Given the description of an element on the screen output the (x, y) to click on. 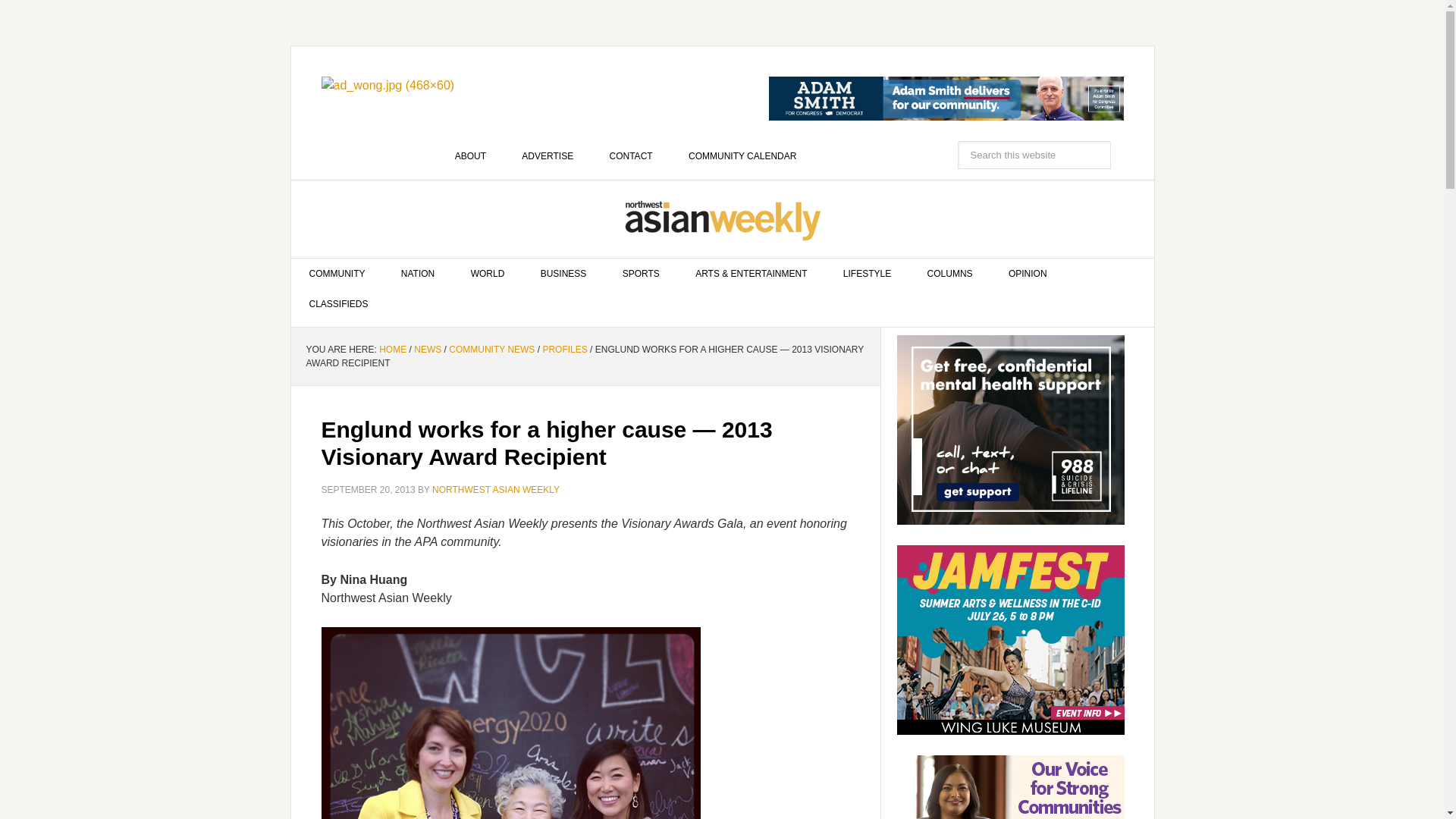
WORLD (487, 273)
NEWS (427, 348)
LIFESTYLE (866, 273)
HOME (392, 348)
COLUMNS (949, 273)
OPINION (1027, 273)
CLASSIFIEDS (339, 304)
NORTHWEST ASIAN WEEKLY (722, 219)
ADVERTISE (547, 155)
COMMUNITY NEWS (491, 348)
NATION (417, 273)
BUSINESS (563, 273)
COMMUNITY CALENDAR (741, 155)
